Given the description of an element on the screen output the (x, y) to click on. 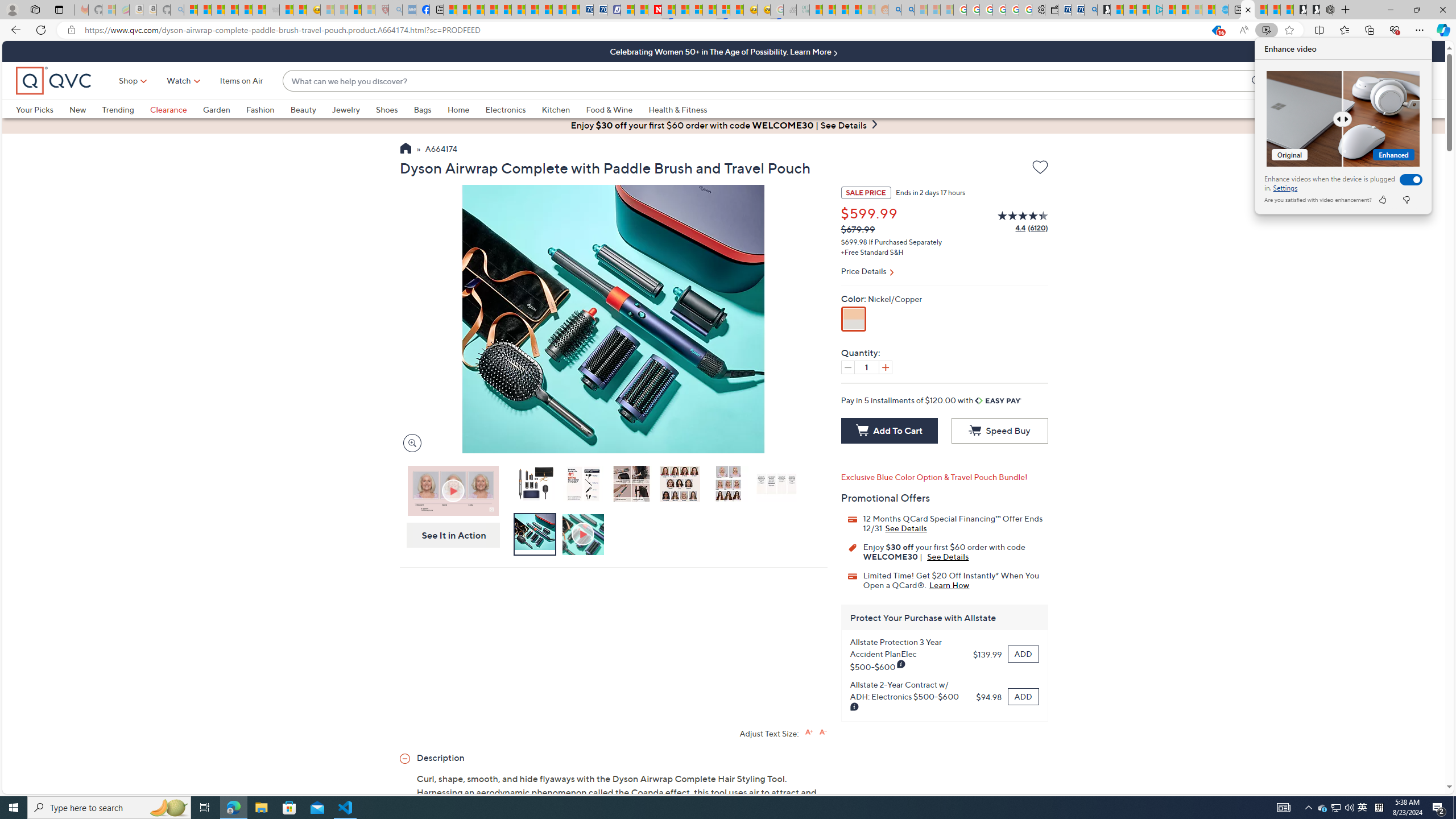
Bing Real Estate - Home sales and rental listings (1090, 9)
Fashion (260, 109)
Running applications (700, 807)
Add to Wish List (1335, 807)
Tray Input Indicator - Chinese (Simplified, China) (1040, 168)
Dyson Airwrap Complete with Paddle Brush and Travel Pouch (1378, 807)
Beauty (534, 485)
